Given the description of an element on the screen output the (x, y) to click on. 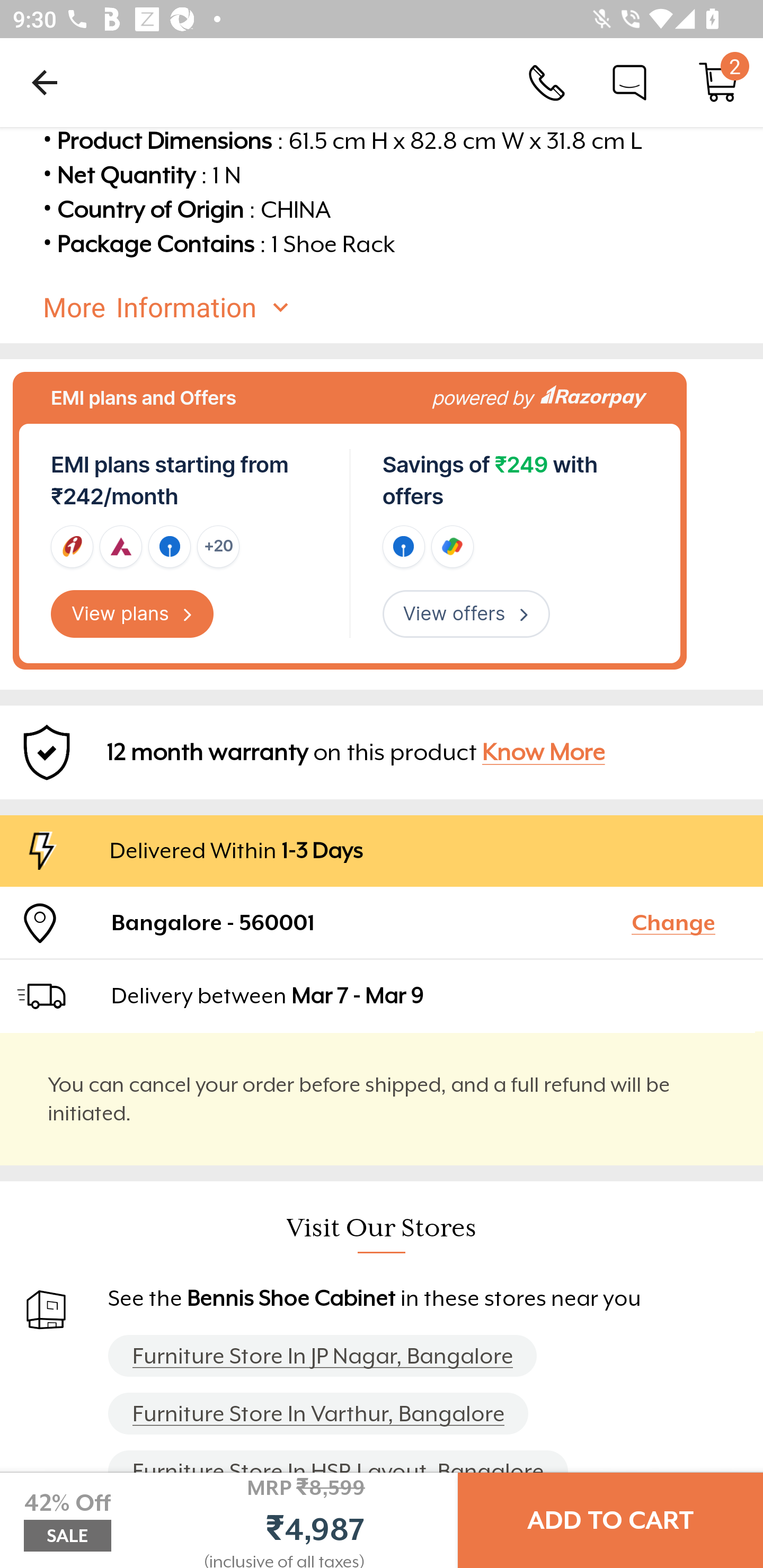
Navigate up (44, 82)
Call Us (546, 81)
Chat (629, 81)
Cart (718, 81)
More Information  (396, 307)
View plans (132, 613)
View offers (465, 613)
12 month warranty on this product Know More (381, 752)
 Bangalore - 560001 Change (381, 922)
Delivery between Mar 7 - Mar 9 (428, 995)
Furniture Store In JP Nagar, Bangalore (322, 1355)
Furniture Store In Varthur, Bangalore (317, 1413)
ADD TO CART (610, 1520)
